Given the description of an element on the screen output the (x, y) to click on. 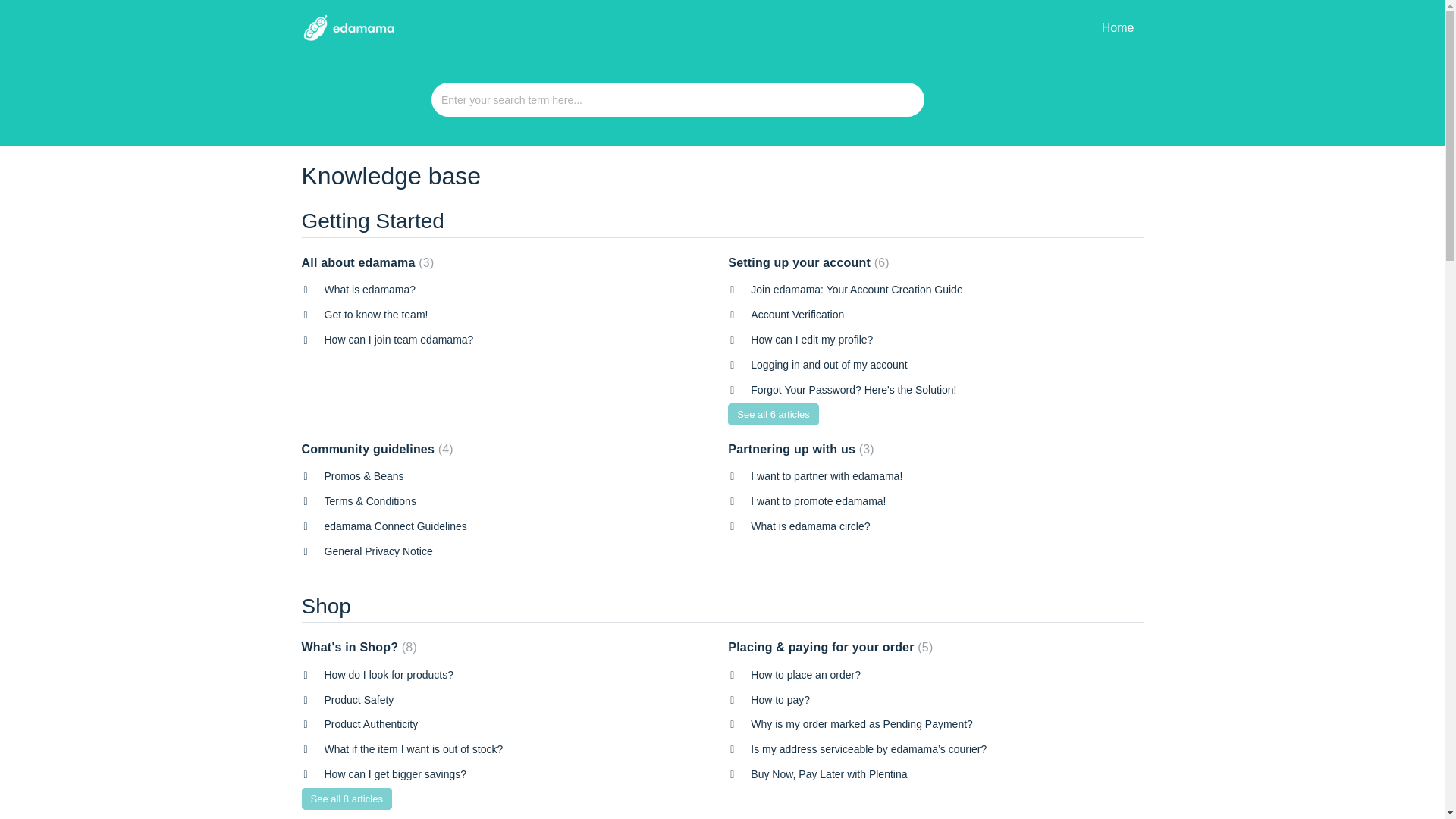
Join edamama: Your Account Creation Guide (856, 289)
Product Authenticity (371, 724)
Why is my order marked as Pending Payment? (861, 724)
Partnering up with us 3 (801, 449)
How do I look for products? (388, 674)
What's in Shop? (359, 646)
General Privacy Notice (378, 551)
I want to partner with edamama! (826, 476)
See all 6 articles (773, 414)
Community guidelines 4 (376, 449)
What if the item I want is out of stock? (413, 748)
Community guidelines (376, 449)
How can I get bigger savings? (395, 774)
Forgot Your Password? Here's the Solution! (853, 389)
What is edamama? (370, 289)
